Given the description of an element on the screen output the (x, y) to click on. 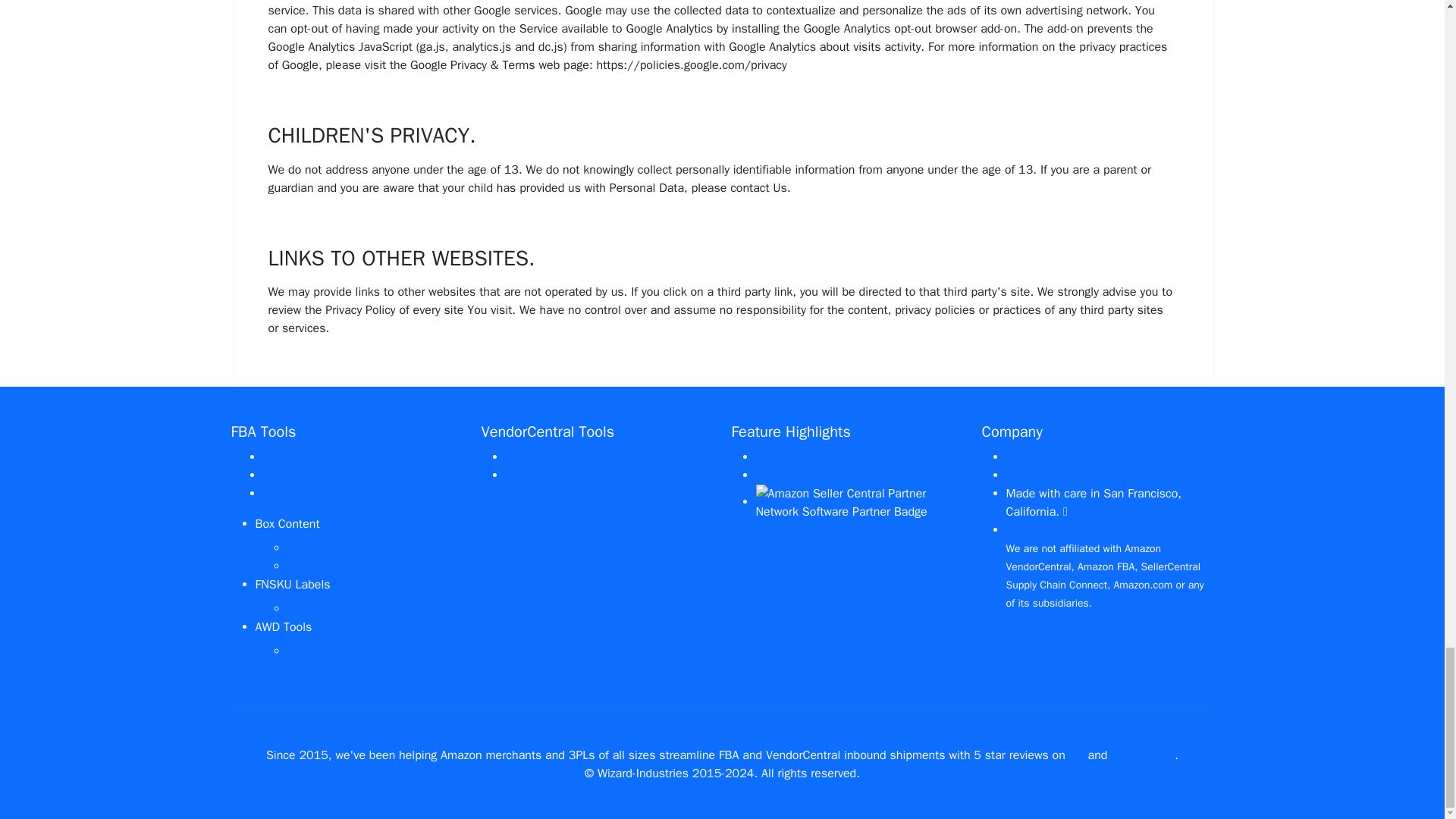
WebRetailer (1142, 754)
AWD Planning and Packing (357, 651)
Multi-Box Input Demo (343, 566)
Getting Started Guide (319, 457)
Product FAQ (787, 475)
Scangun Packing Demo (348, 548)
BPS Carton Labels (554, 475)
G2 (1076, 754)
Combined Labels (307, 475)
Terms of Service (1054, 475)
